Given the description of an element on the screen output the (x, y) to click on. 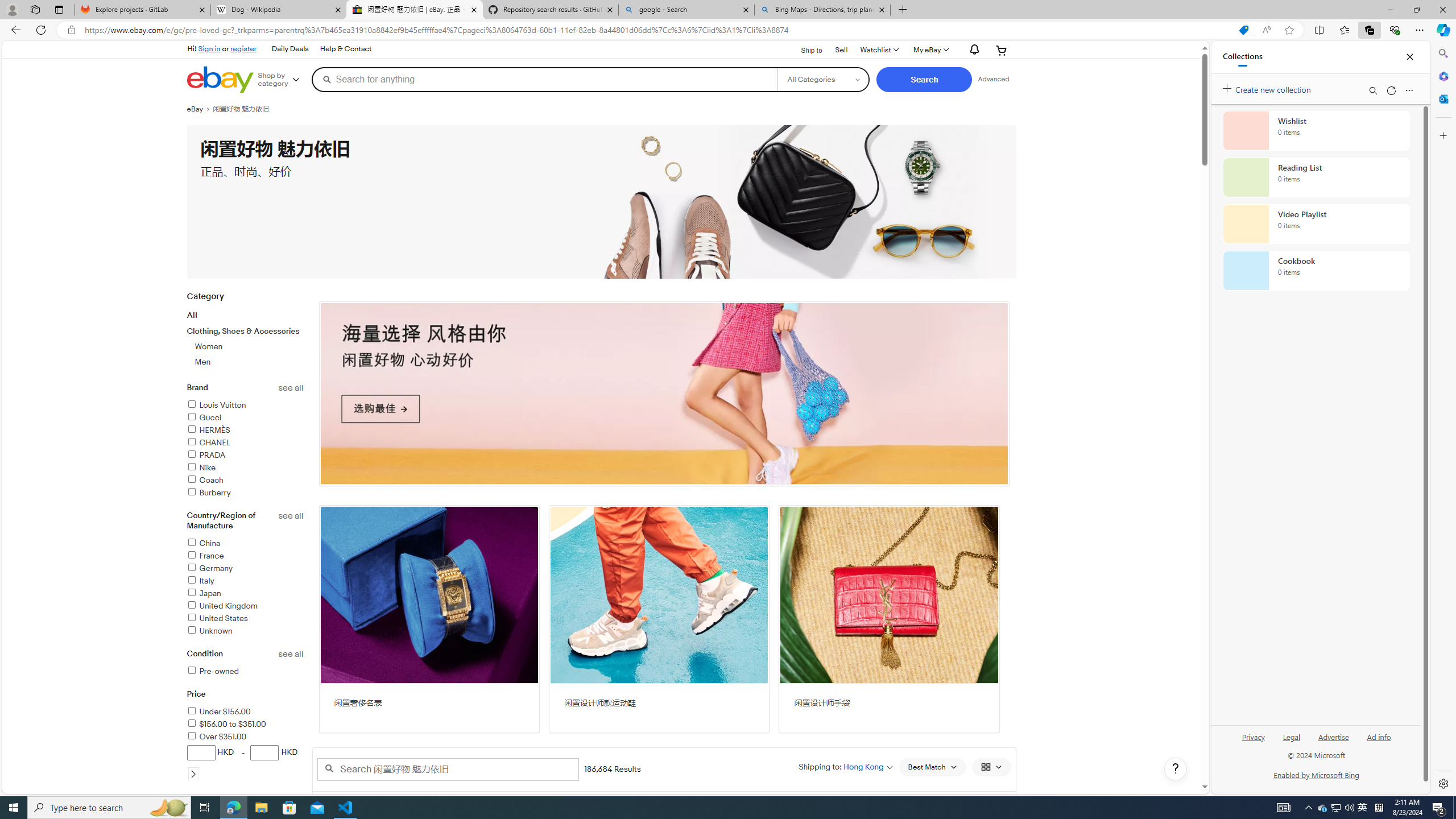
See all buying format refinements (291, 798)
Watchlist (878, 49)
United States (216, 618)
Dog - Wikipedia (277, 9)
United Kingdom (221, 605)
Your shopping cart (1001, 49)
Gucci (203, 417)
Nike (200, 467)
Louis Vuitton (245, 405)
Advanced Search (993, 78)
eBay (199, 108)
Create new collection (1268, 87)
